Given the description of an element on the screen output the (x, y) to click on. 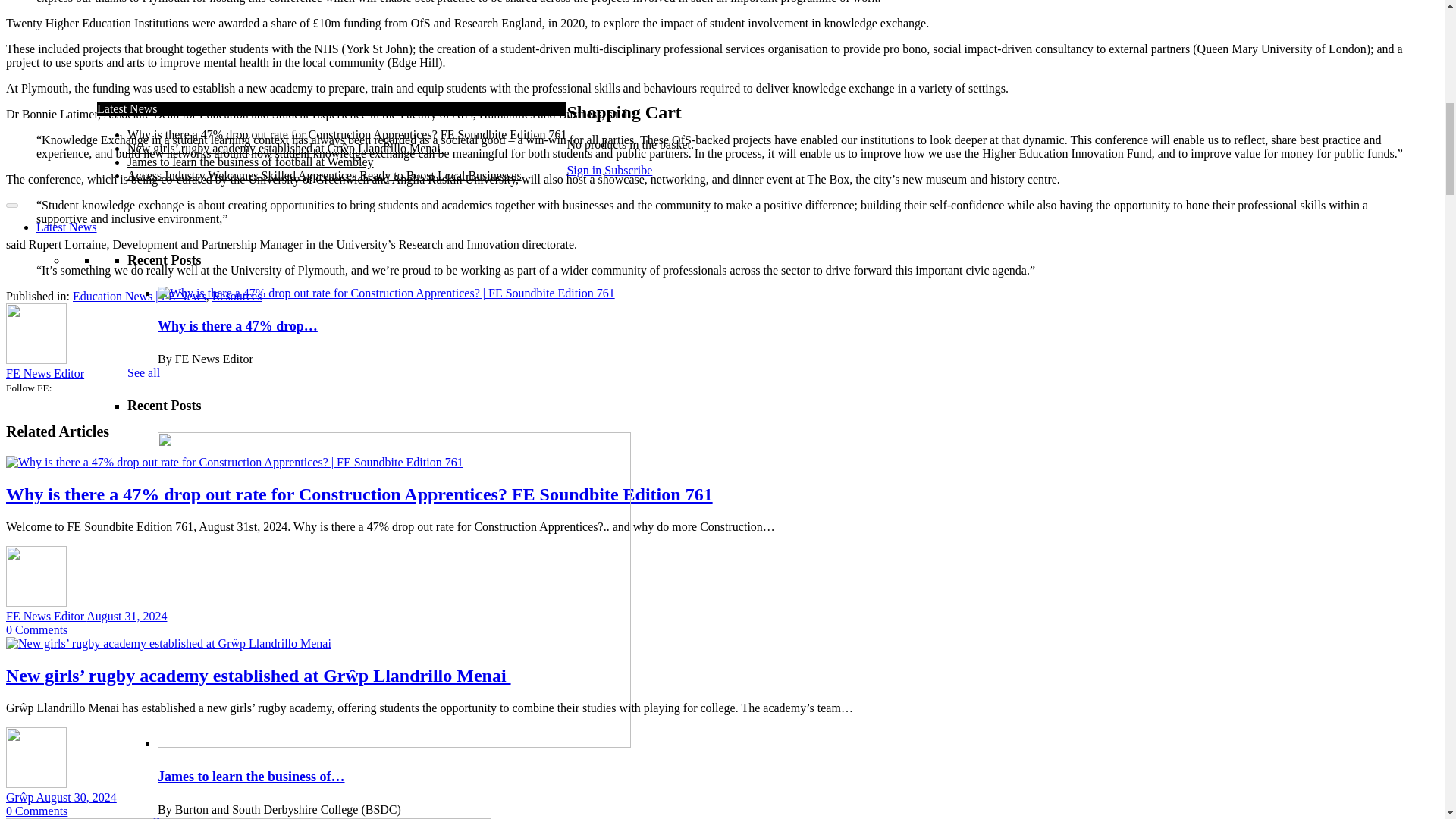
See all (144, 4)
Sign in (240, 727)
EdTech - News on Education Technology (228, 658)
Subscribe (166, 727)
See all (144, 148)
See all (144, 599)
Skills and Apprenticeships - News and Insights (242, 699)
Exclusives (62, 740)
